Given the description of an element on the screen output the (x, y) to click on. 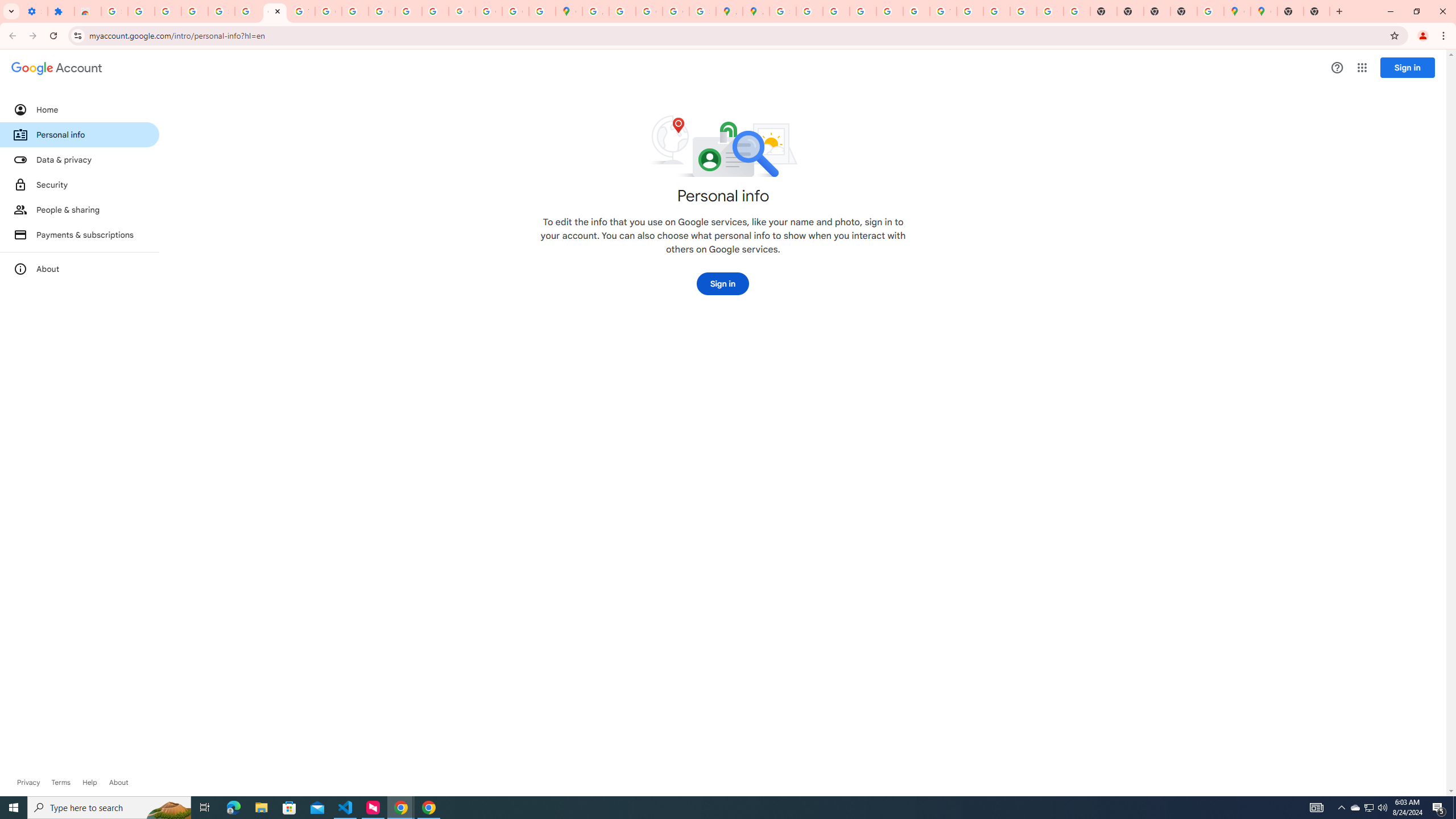
https://scholar.google.com/ (355, 11)
New Tab (1183, 11)
Reviews: Helix Fruit Jump Arcade Game (87, 11)
Use Google Maps in Space - Google Maps Help (1210, 11)
Google Maps (569, 11)
Delete photos & videos - Computer - Google Photos Help (141, 11)
